Given the description of an element on the screen output the (x, y) to click on. 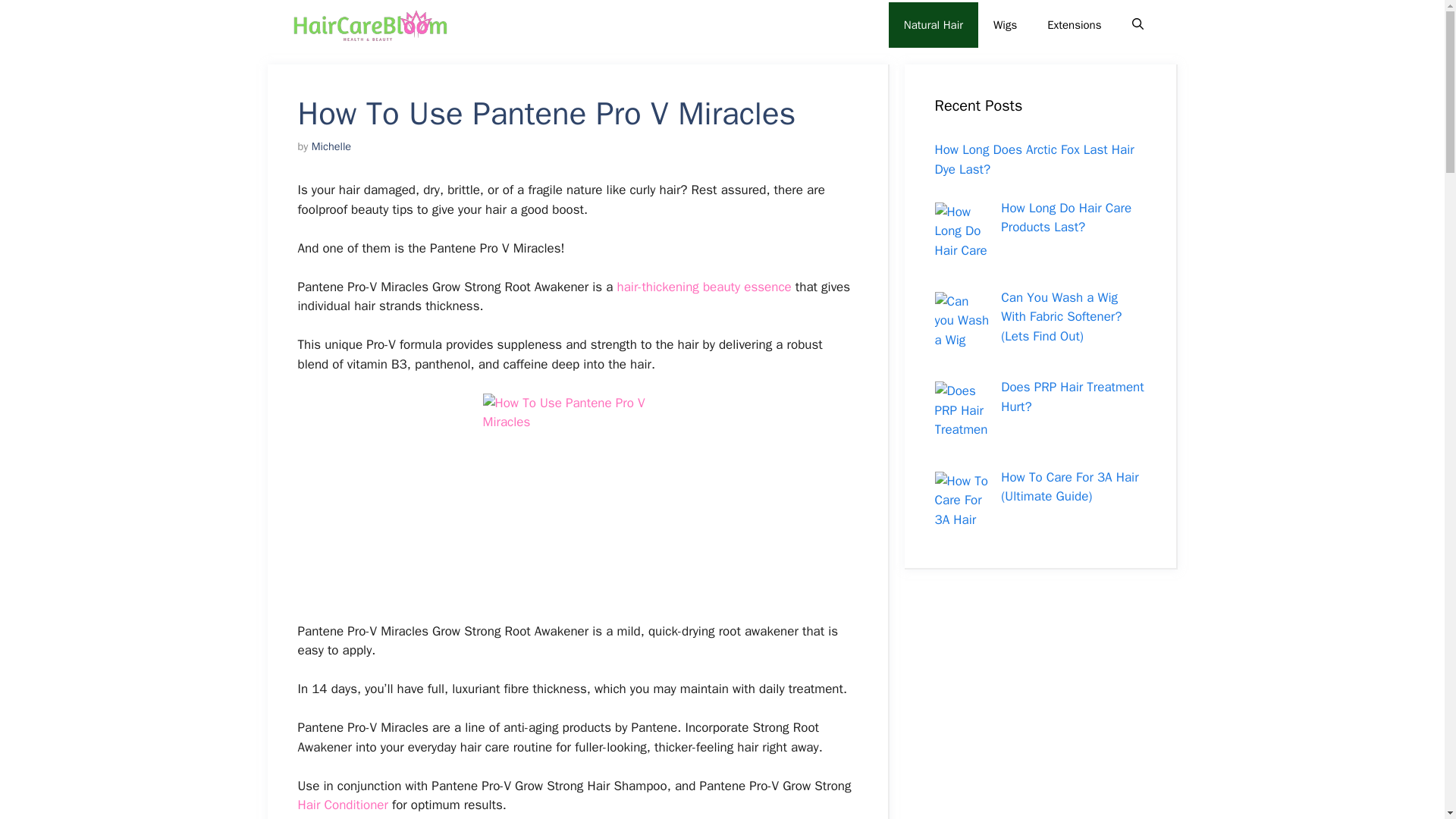
HairCareBloom (371, 24)
Hair Conditioner (342, 804)
Michelle (330, 146)
Natural Hair (933, 23)
View all posts by Michelle (330, 146)
Does PRP Hair Treatment Hurt? (1071, 396)
How Long Does Arctic Fox Last Hair Dye Last? (1034, 159)
Extensions (1074, 23)
How Long Do Hair Care Products Last? (1066, 217)
hair-thickening beauty essence (704, 286)
